Given the description of an element on the screen output the (x, y) to click on. 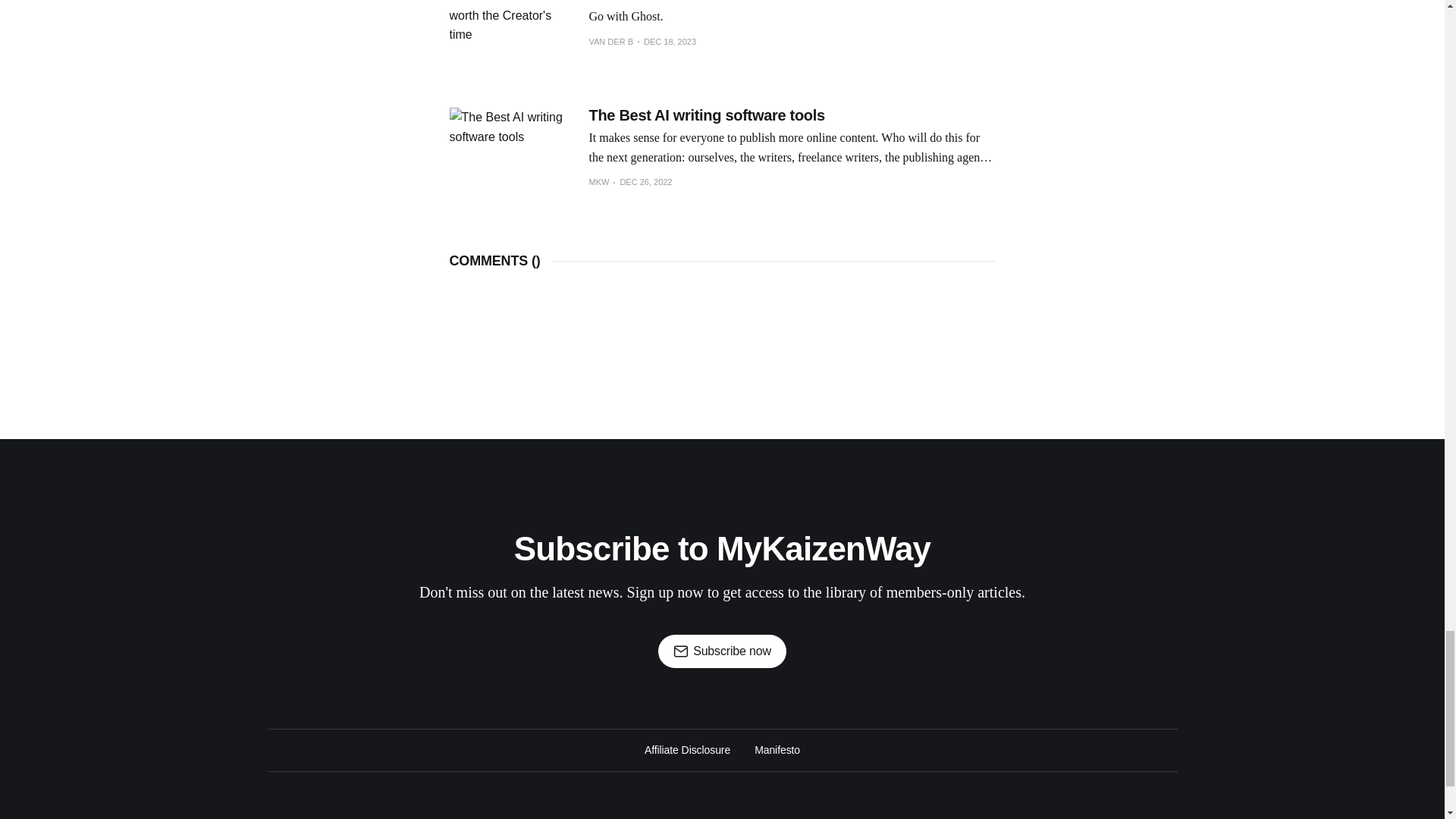
Manifesto (776, 750)
Subscribe now (722, 651)
Affiliate Disclosure (687, 750)
